Given the description of an element on the screen output the (x, y) to click on. 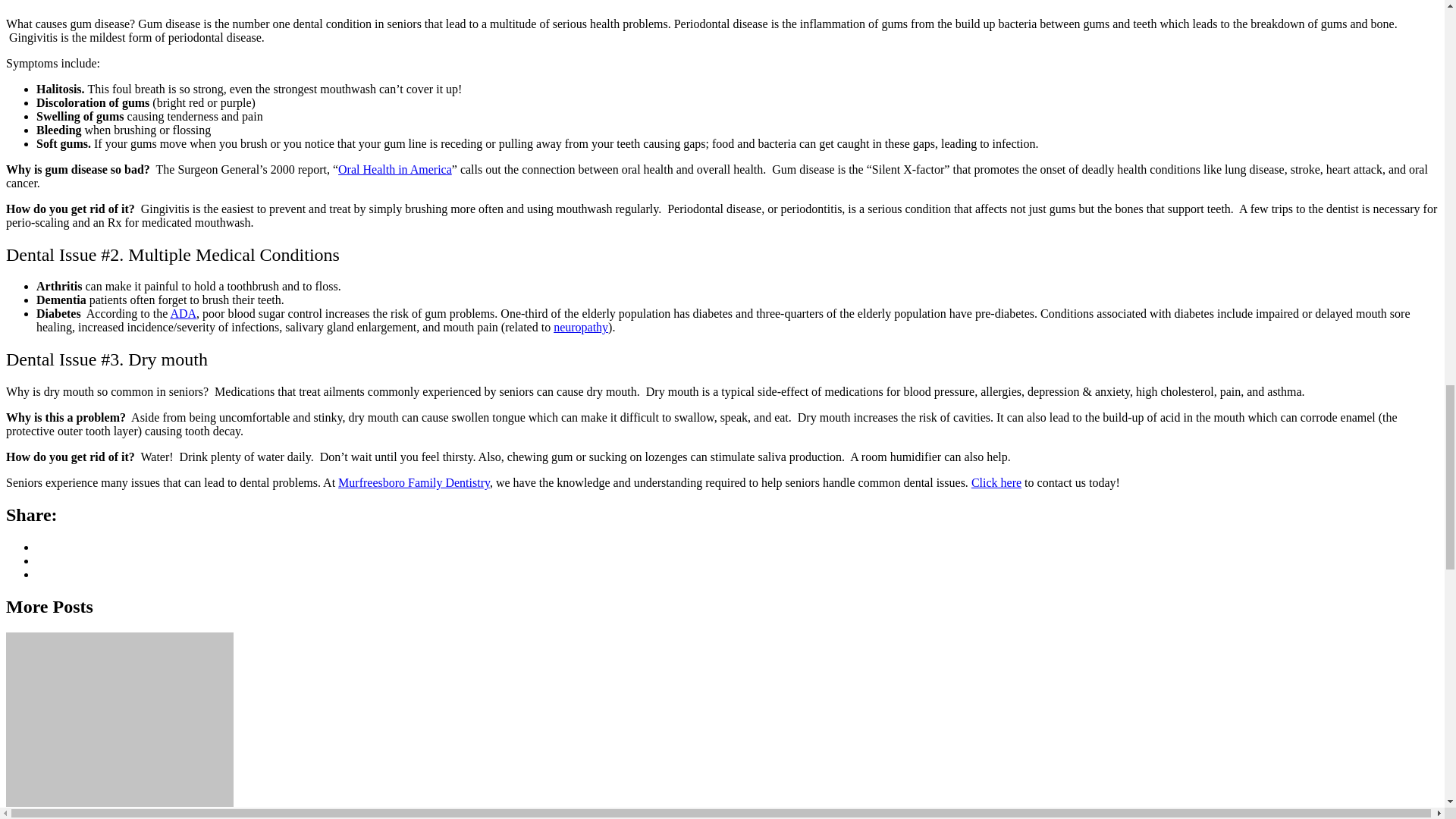
Murfreesboro Family Dentistry (413, 481)
Click here (996, 481)
ADA (183, 313)
neuropathy (580, 327)
Oral Health in America (394, 169)
